Given the description of an element on the screen output the (x, y) to click on. 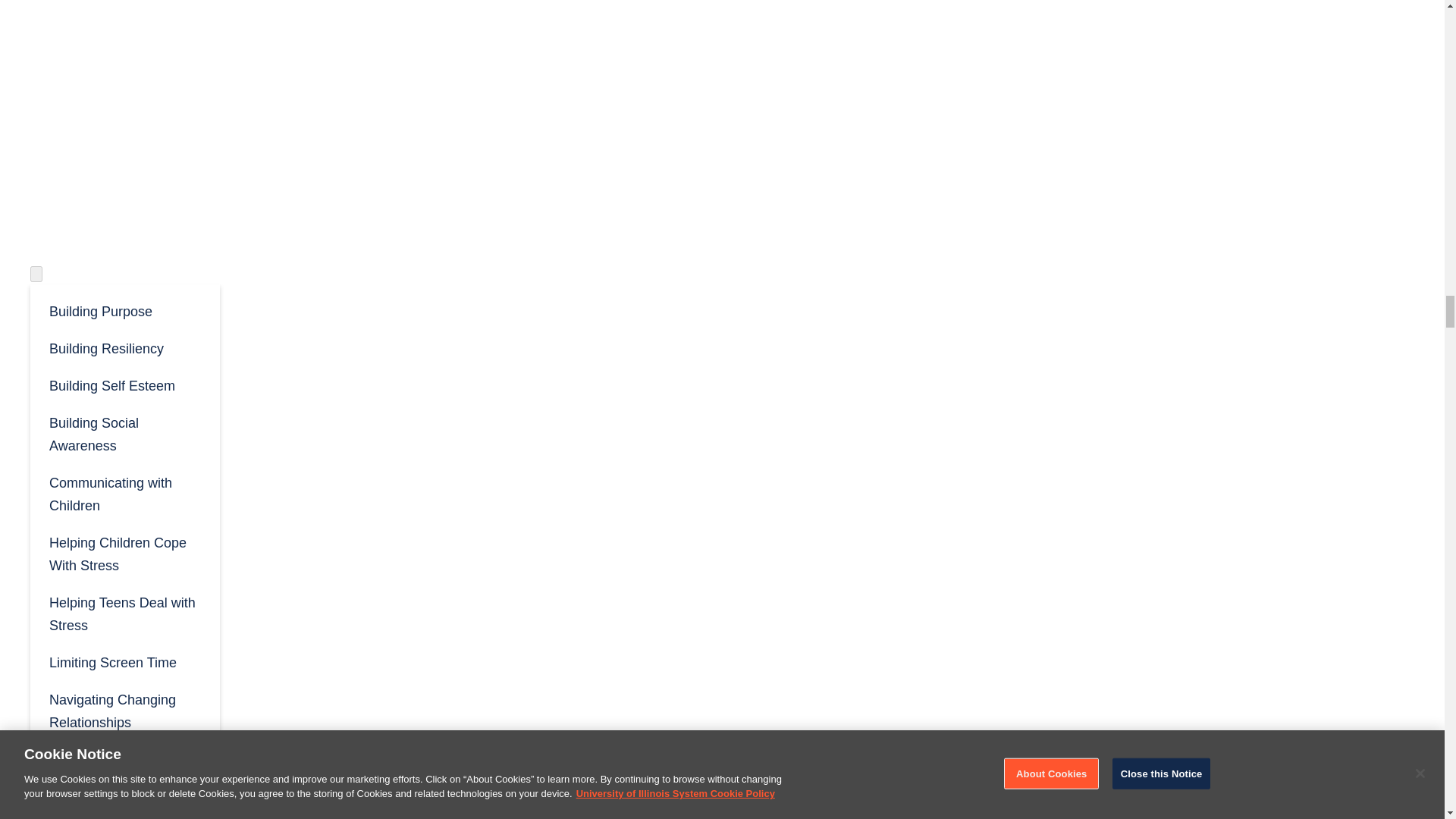
Building Resiliency (125, 347)
Limiting Screen Time (125, 661)
Tips For Families (125, 809)
Building Purpose (125, 310)
Building Social Awareness (125, 433)
Helping Teens Deal with Stress (125, 612)
Navigating Changing Relationships (125, 710)
Helping Children Cope With Stress (125, 553)
Communicating with Children (125, 493)
Building Self Esteem (125, 384)
Terrific Teachable Moments (125, 770)
